Given the description of an element on the screen output the (x, y) to click on. 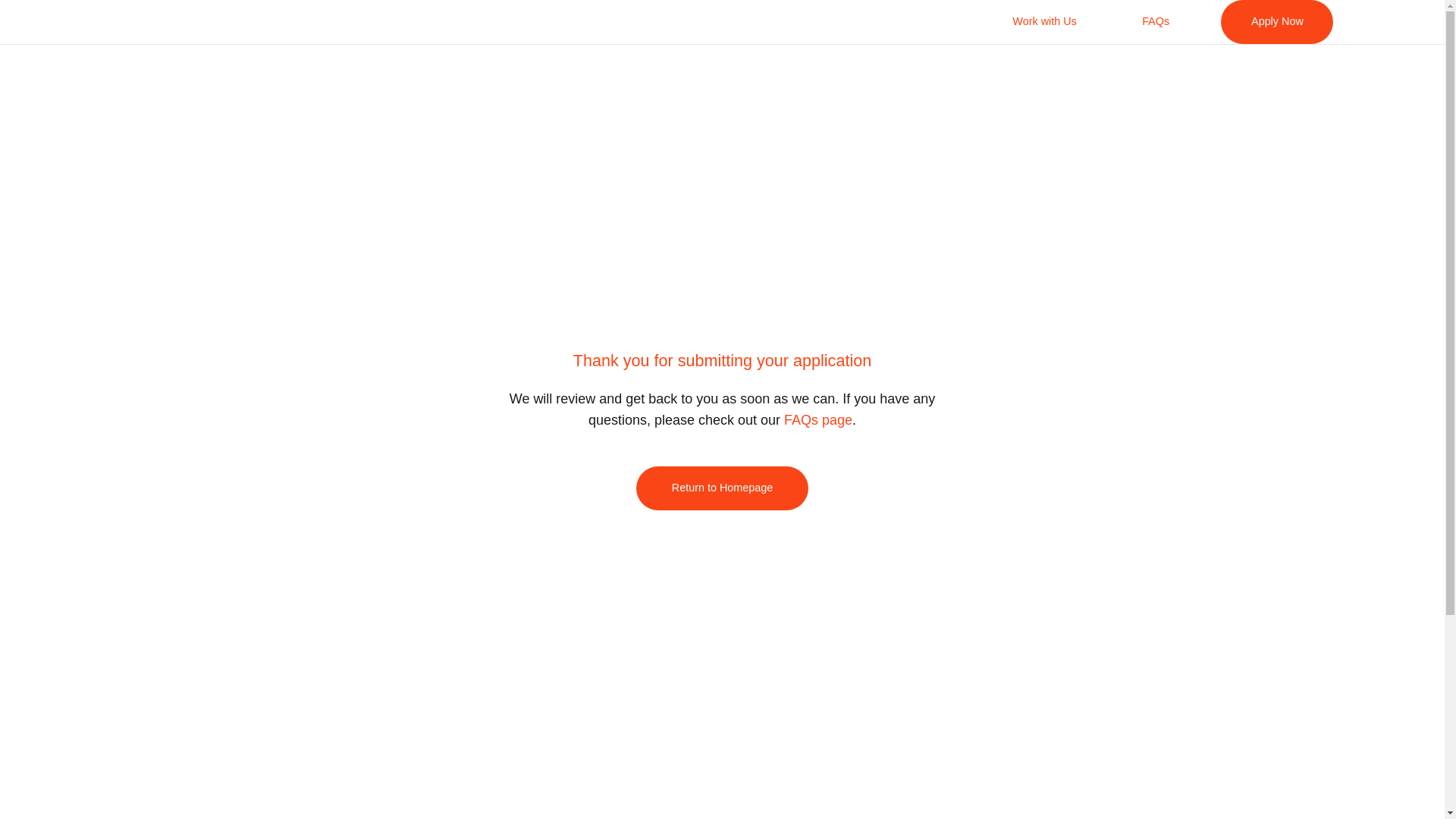
Apply Now Element type: text (1276, 21)
FAQs page Element type: text (818, 419)
Work with Us Element type: text (1043, 21)
FAQs Element type: text (1155, 21)
Return to Homepage Element type: text (722, 488)
